Given the description of an element on the screen output the (x, y) to click on. 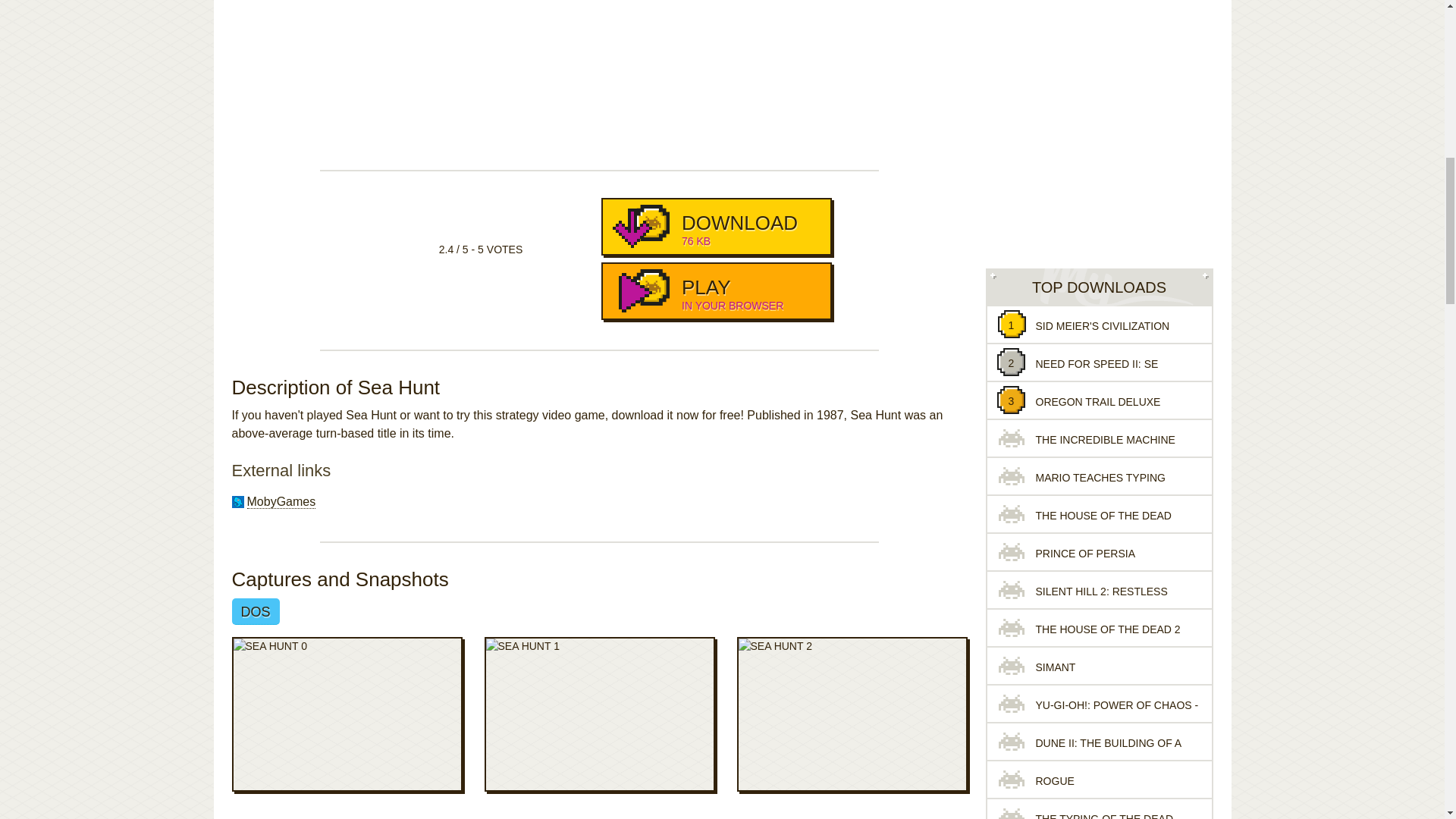
DOS (716, 226)
MobyGames (255, 611)
